Given the description of an element on the screen output the (x, y) to click on. 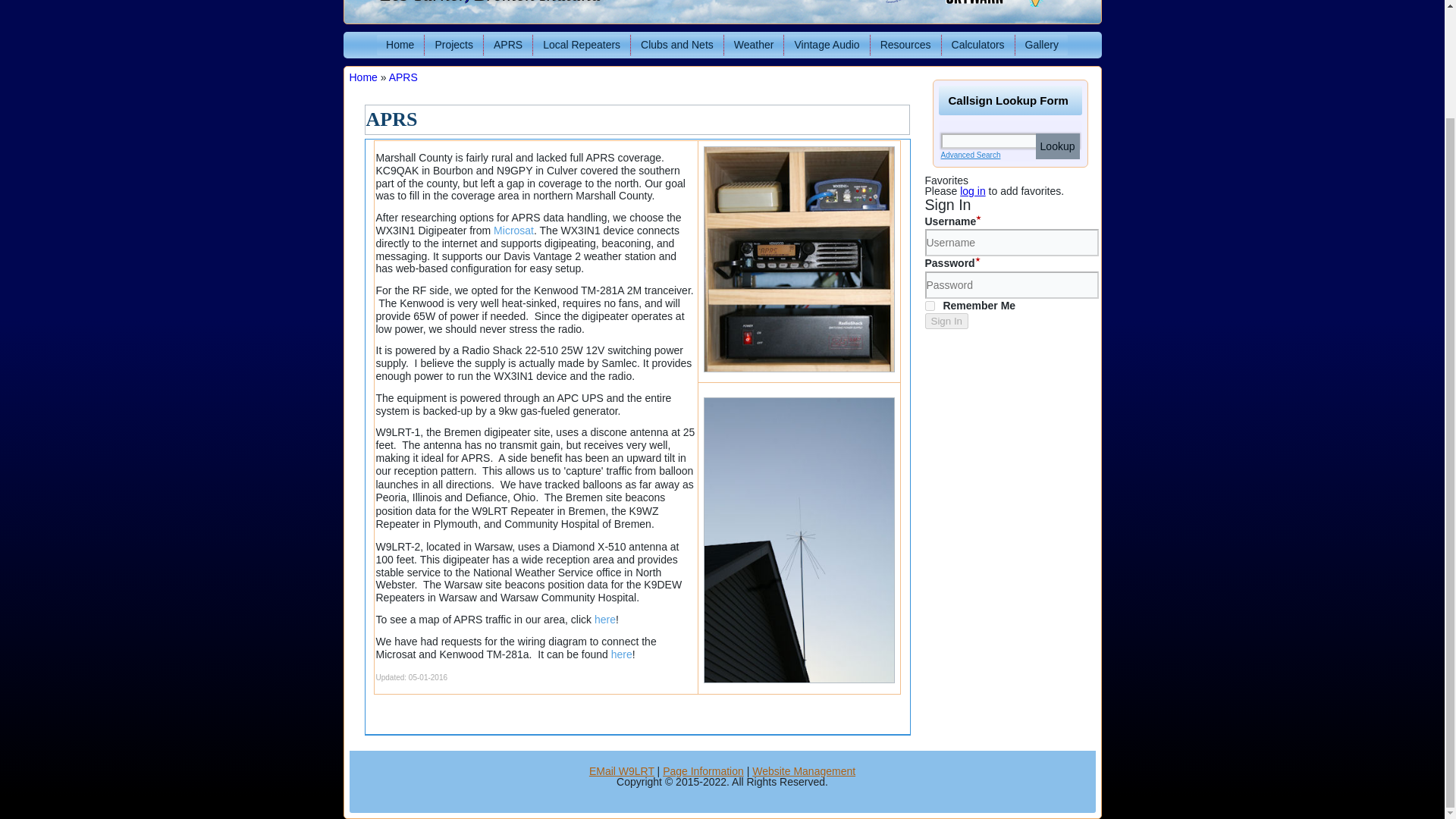
APRS (507, 45)
Local Repeaters (581, 45)
Resources (905, 45)
Clubs and Nets (676, 45)
Projects (453, 45)
Home (400, 45)
Les Turner, Bremen Indiana (490, 2)
Weather (754, 45)
1 (929, 306)
Vintage Audio (825, 45)
